Given the description of an element on the screen output the (x, y) to click on. 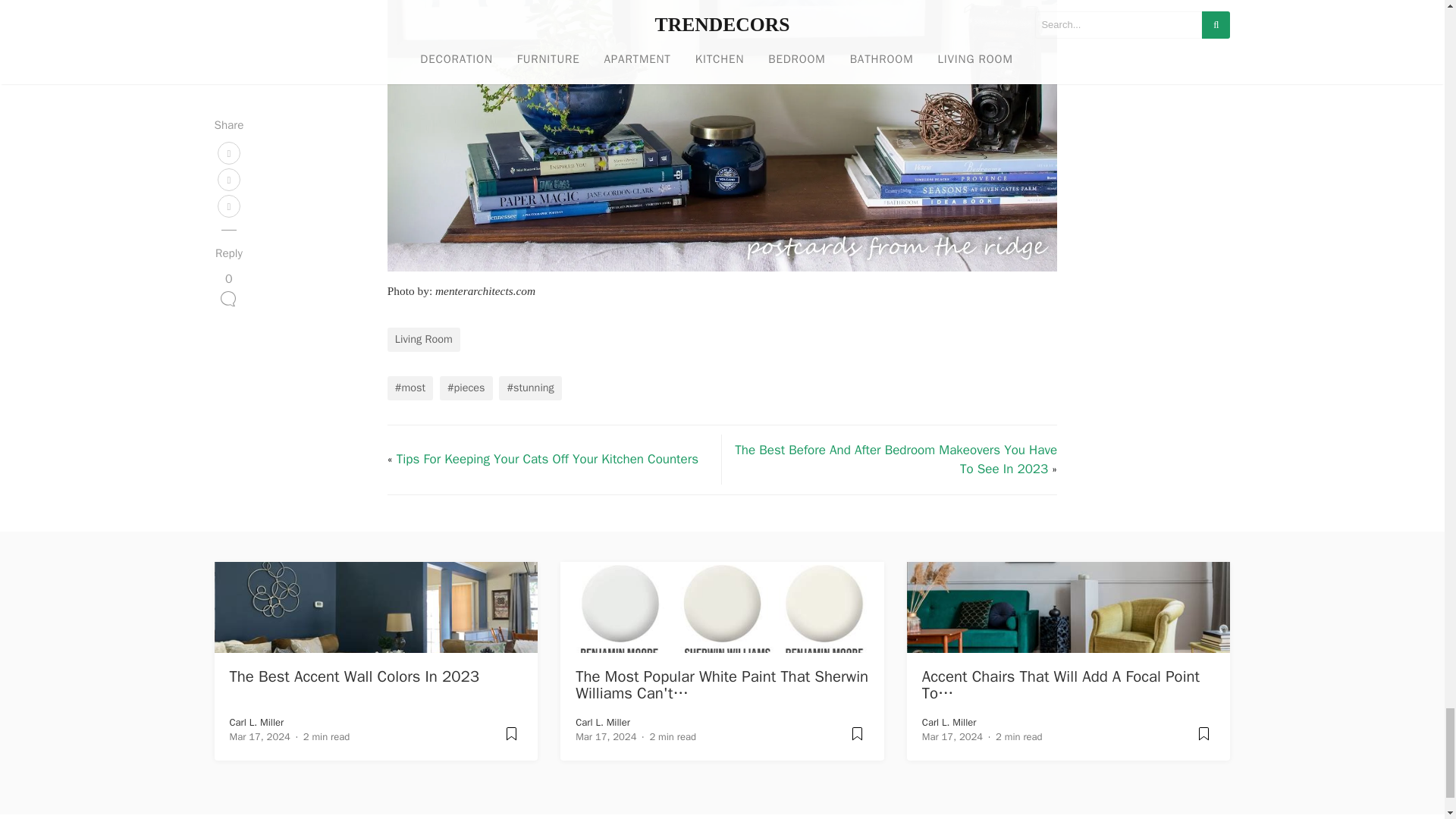
Tips For Keeping Your Cats Off Your Kitchen Counters (547, 458)
Carl L. Miller (256, 721)
Carl L. Miller (948, 721)
Living Room (423, 339)
Carl L. Miller (602, 721)
The Best Accent Wall Colors In 2023 (355, 676)
